Given the description of an element on the screen output the (x, y) to click on. 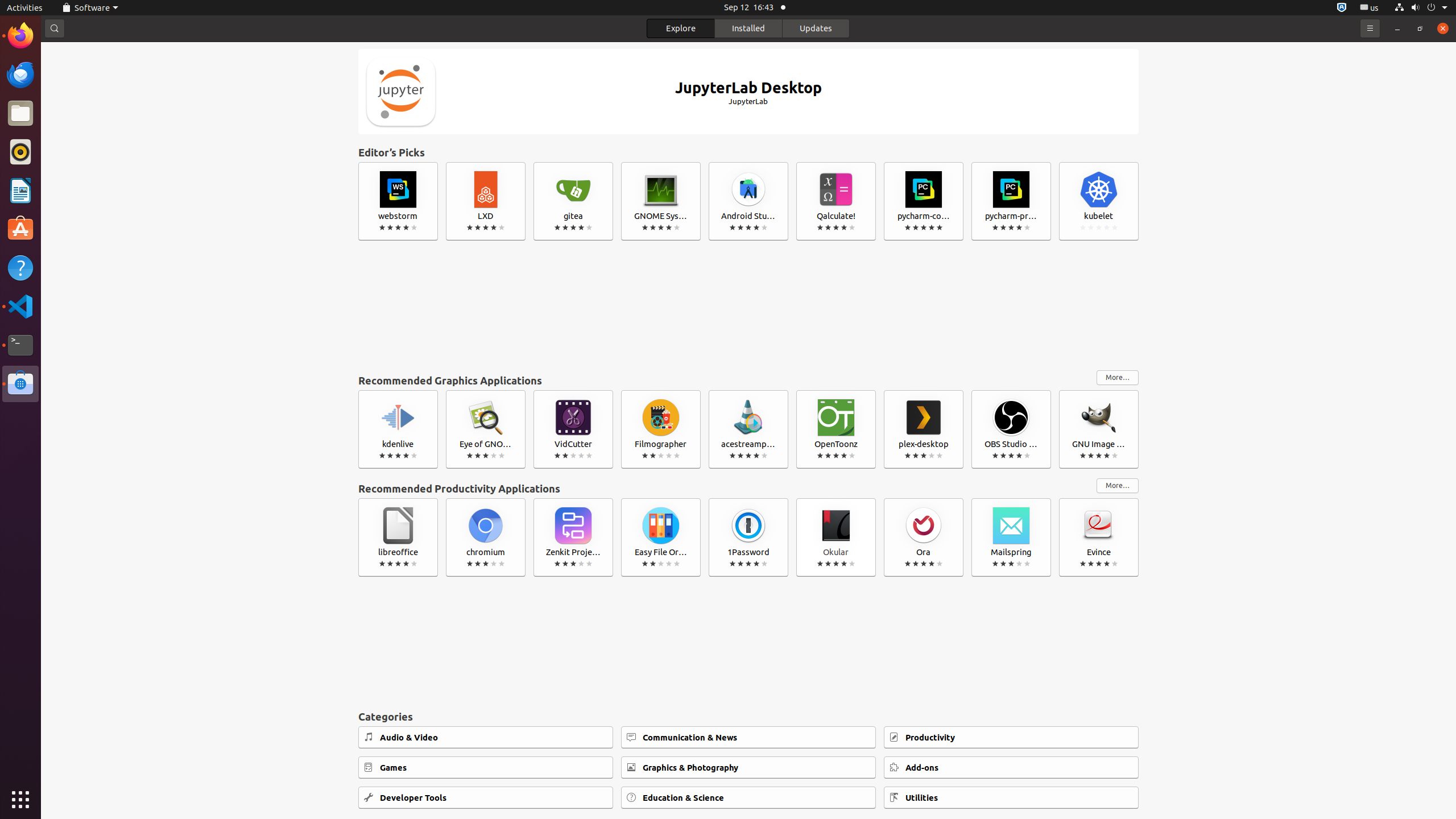
More… Element type: push-button (1117, 485)
acestreamplayer Element type: push-button (748, 429)
Software Element type: menu (89, 7)
GNOME System Monitor Element type: push-button (660, 201)
